Given the description of an element on the screen output the (x, y) to click on. 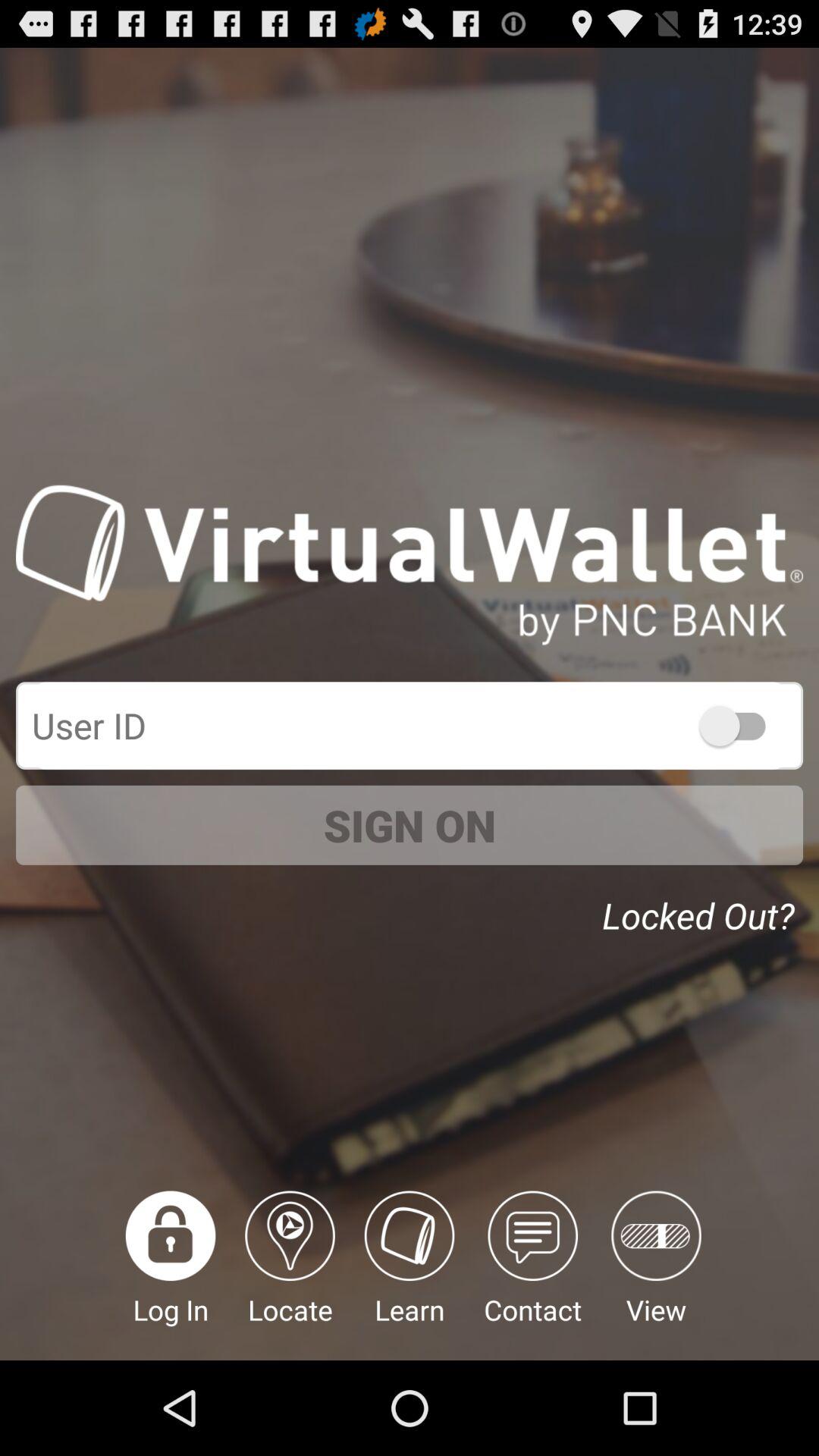
turn on the item above the contact icon (702, 909)
